Given the description of an element on the screen output the (x, y) to click on. 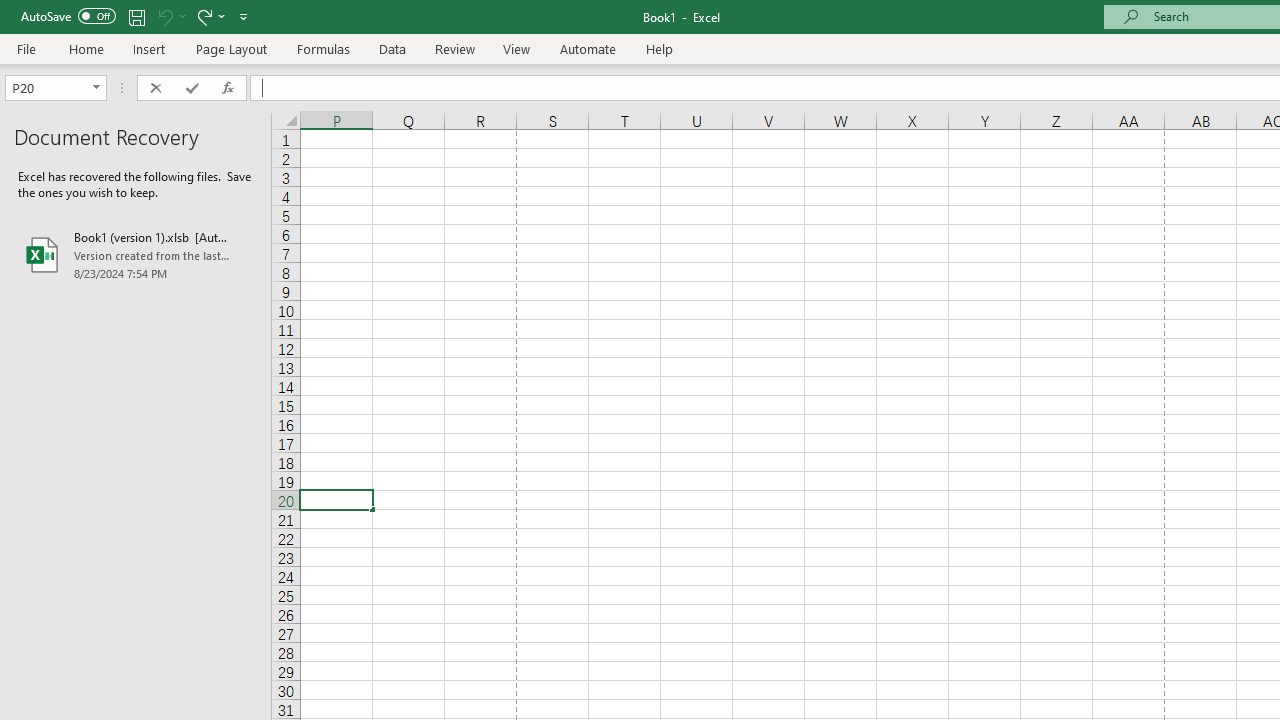
Name Box (56, 88)
Home (86, 48)
Undo (164, 15)
Formulas (323, 48)
Review (454, 48)
File Tab (26, 48)
Name Box (46, 88)
Customize Quick Access Toolbar (244, 15)
Redo (203, 15)
Help (660, 48)
Open (96, 88)
Save (136, 15)
AutoSave (68, 16)
Insert (149, 48)
Quick Access Toolbar (136, 16)
